Given the description of an element on the screen output the (x, y) to click on. 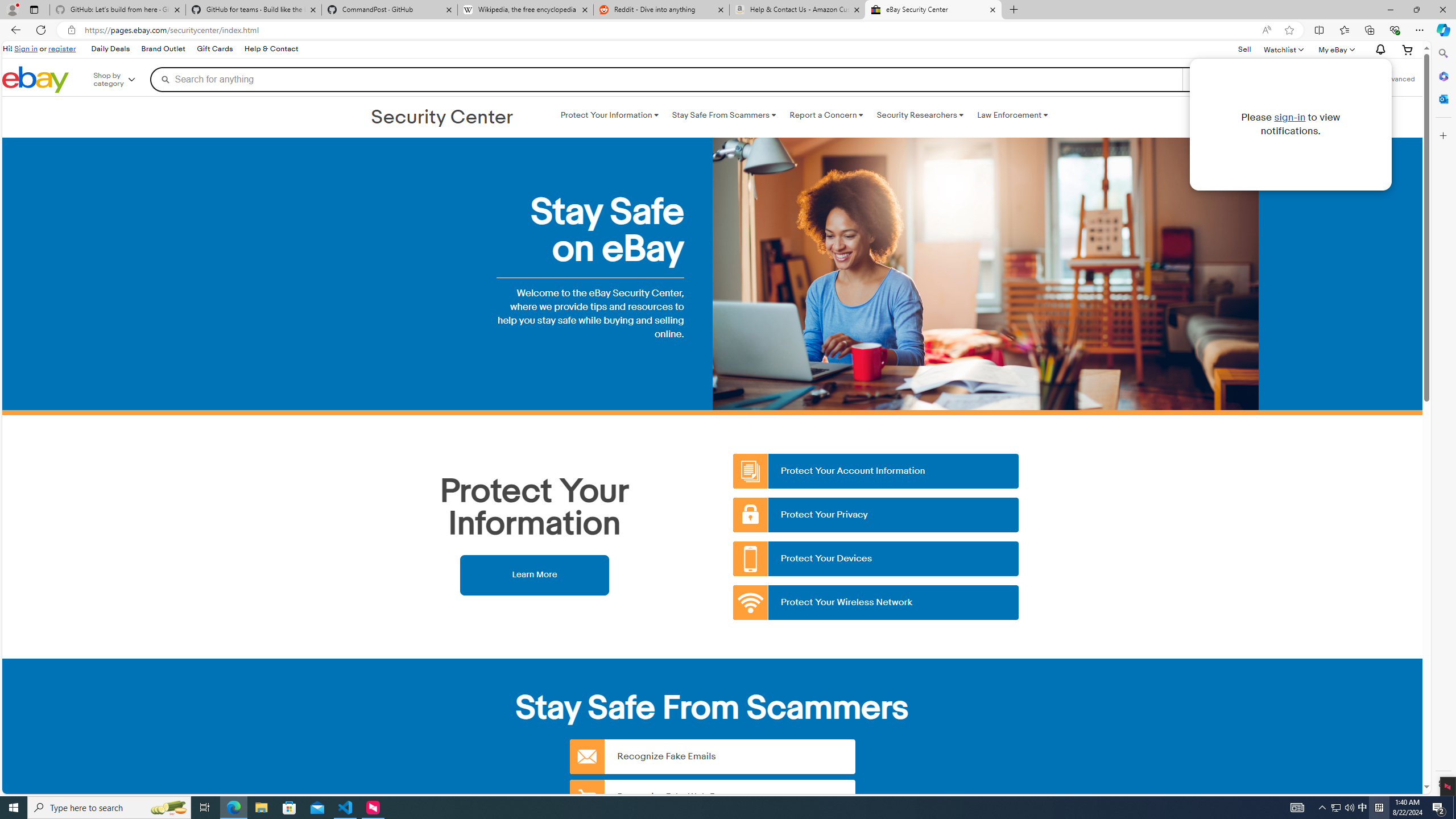
Protect Your Information  (608, 115)
Protect Your Wireless Network (876, 602)
Stay Safe From Scammers  (723, 115)
eBay Security Center (933, 9)
Watchlist (1282, 49)
Select a category for search (1228, 78)
Report a Concern  (826, 115)
register (61, 48)
Please sign-in to view notifications. (1378, 49)
